Given the description of an element on the screen output the (x, y) to click on. 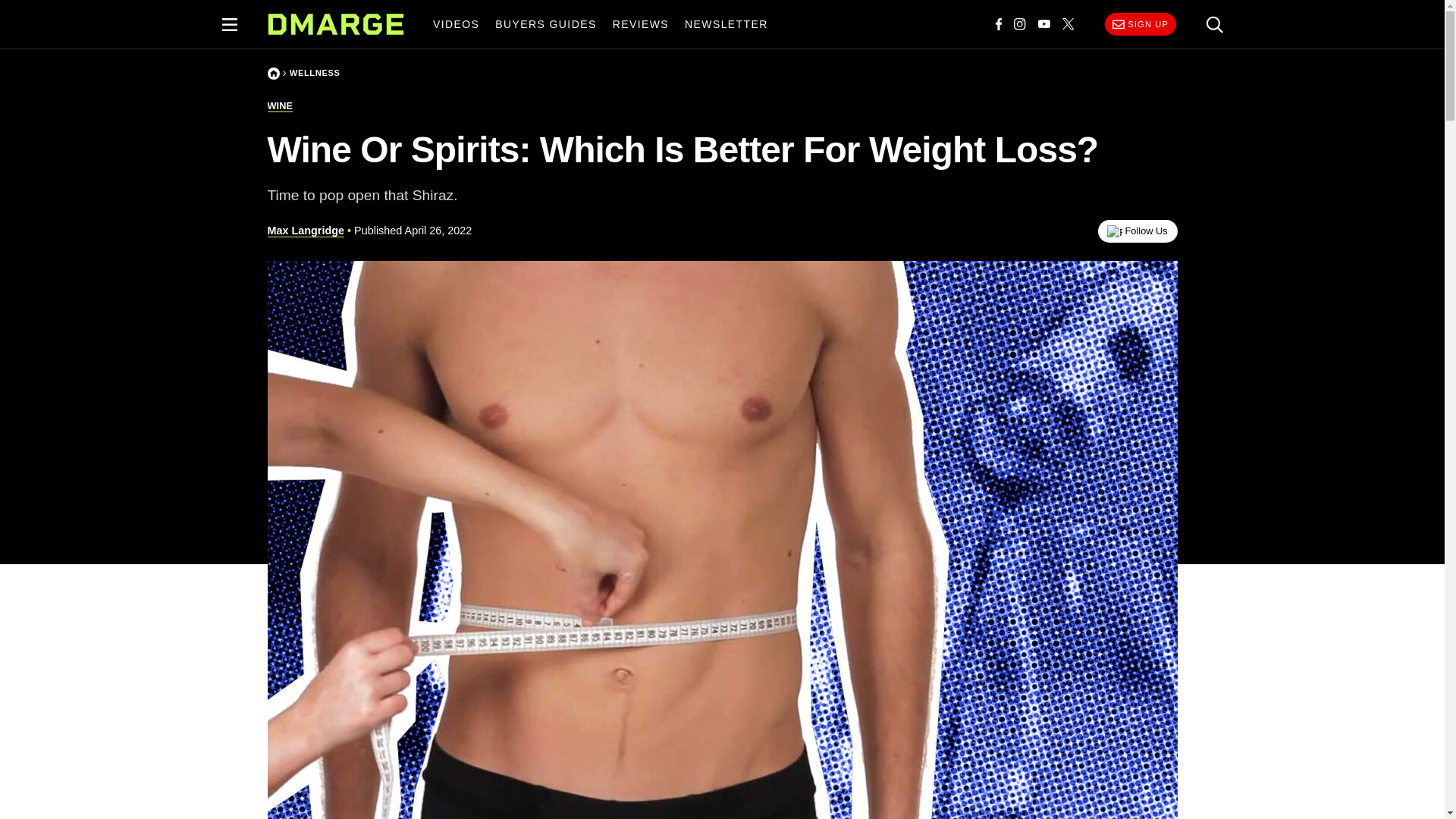
NEWSLETTER (726, 24)
Posts by Max Langridge (304, 230)
SIGN UP (1139, 24)
Newsletter Signup (1139, 24)
Visit us on YouTube (1044, 23)
Visit us on Twitter (1068, 24)
REVIEWS (640, 24)
Visit us on Instagram (1019, 24)
VIDEOS (455, 24)
BUYERS GUIDES (545, 24)
